Given the description of an element on the screen output the (x, y) to click on. 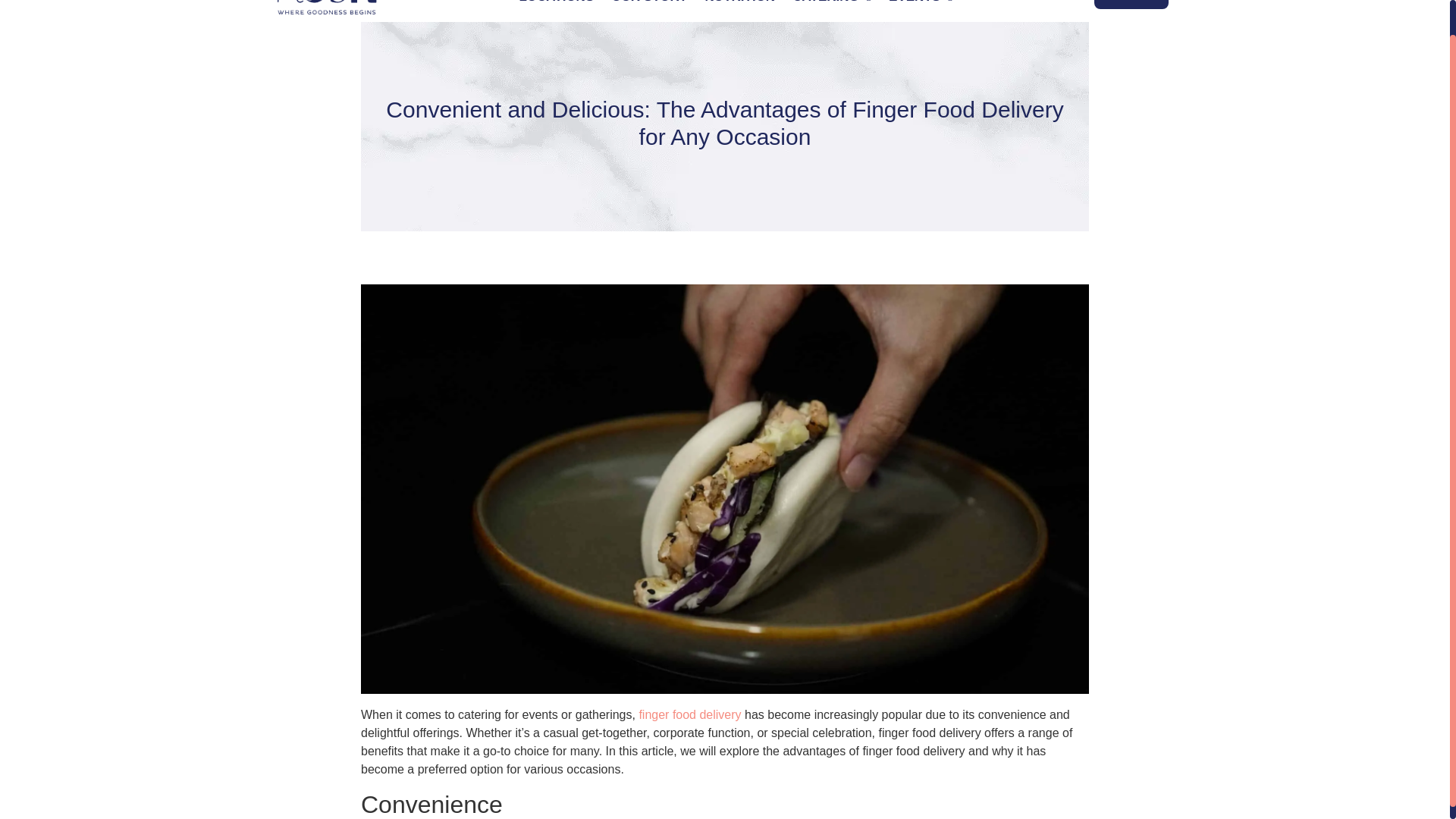
EVENTS (920, 7)
LOCATIONS (555, 7)
CATERING (831, 7)
NUTRITION (740, 7)
ORDER (1131, 4)
OUR STORY (649, 7)
